Given the description of an element on the screen output the (x, y) to click on. 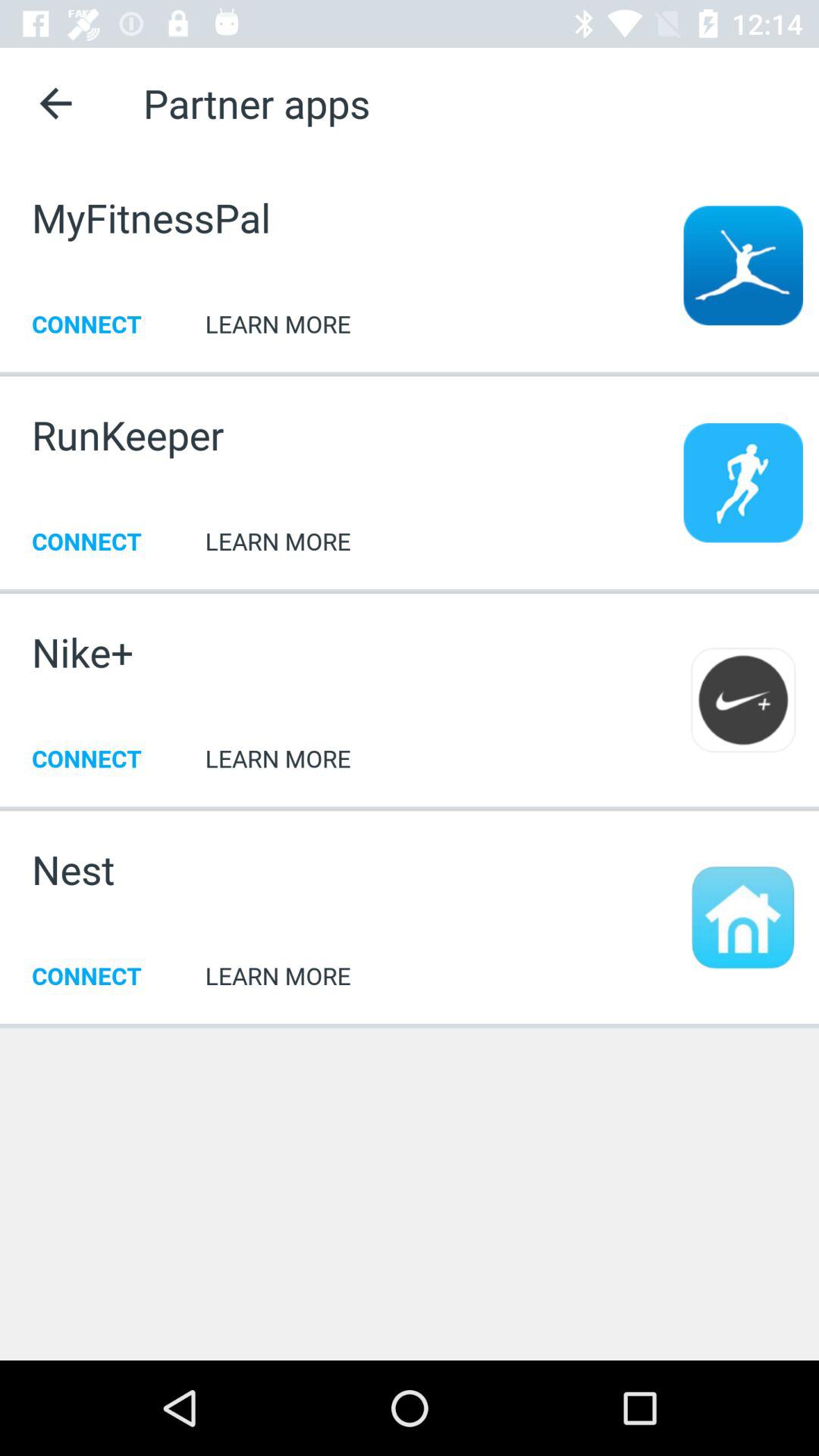
tap the item next to the learn more item (73, 869)
